Given the description of an element on the screen output the (x, y) to click on. 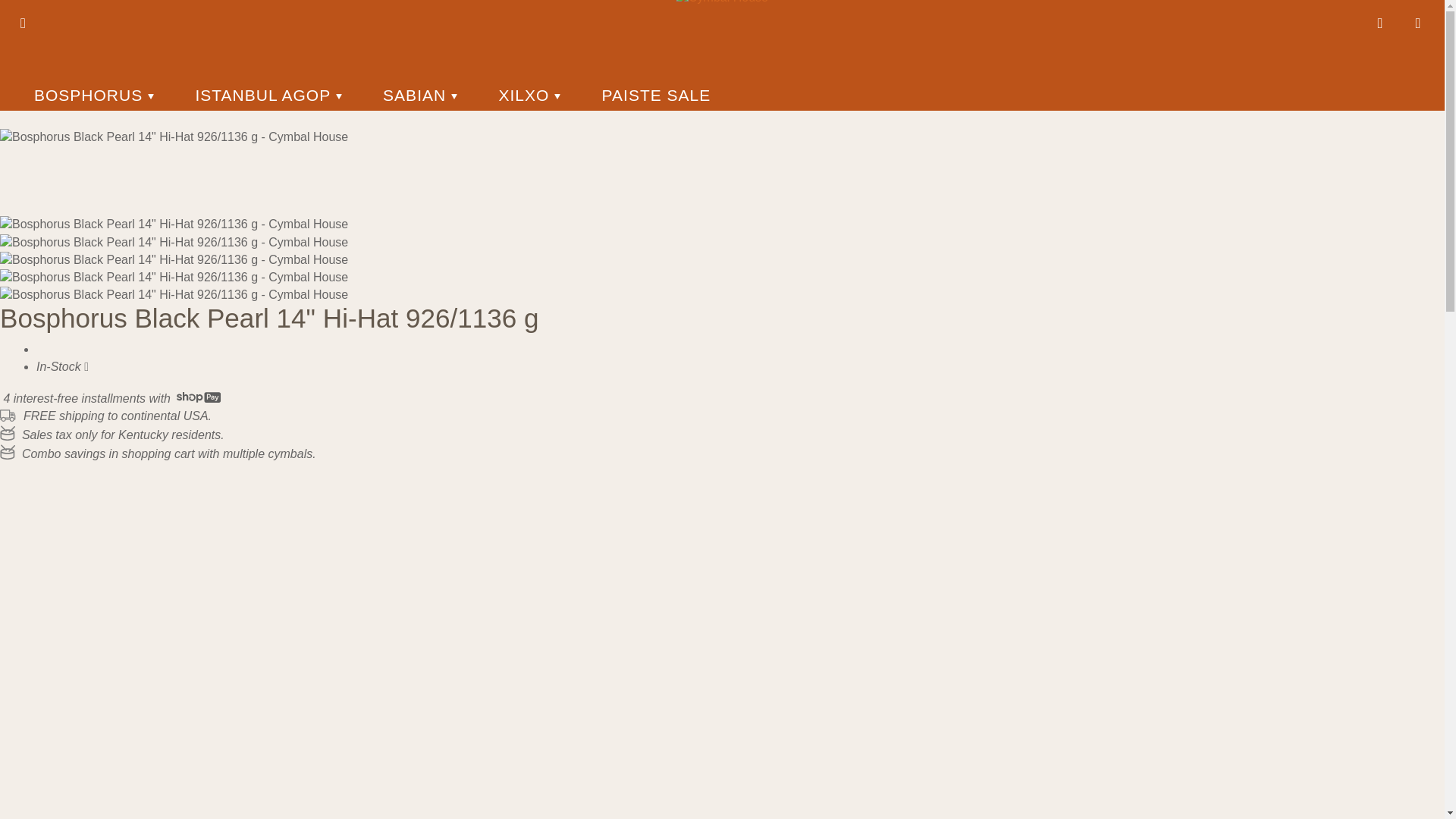
My account (1379, 23)
BOSPHORUS (93, 95)
Search (28, 23)
You have 0 items in your cart (1417, 23)
Shop Pay (198, 397)
Bosphorus Black Pearl 14 (173, 137)
ISTANBUL AGOP (267, 95)
